Given the description of an element on the screen output the (x, y) to click on. 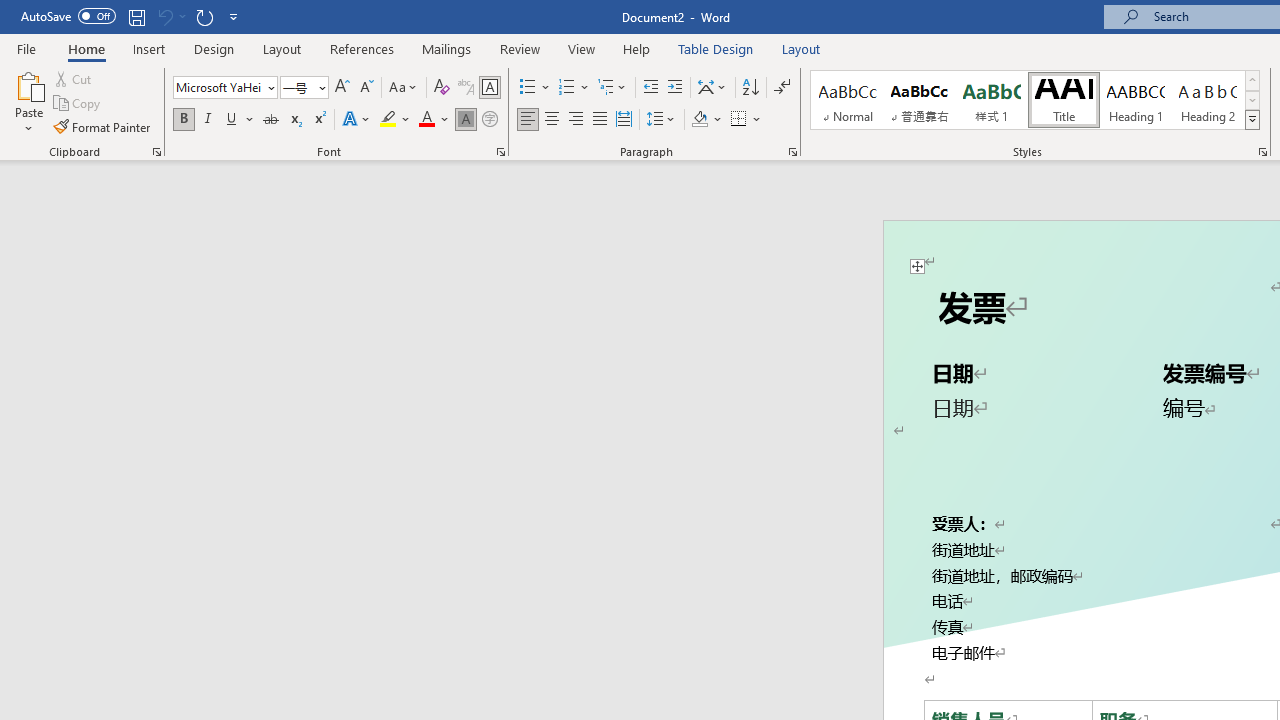
Text Highlight Color (395, 119)
Home (86, 48)
Clear Formatting (442, 87)
Justify (599, 119)
Repeat Default Char Border (204, 15)
Copy (78, 103)
Styles... (1262, 151)
Numbering (573, 87)
Row up (1252, 79)
Decrease Indent (650, 87)
System (10, 11)
Italic (207, 119)
Bold (183, 119)
